Given the description of an element on the screen output the (x, y) to click on. 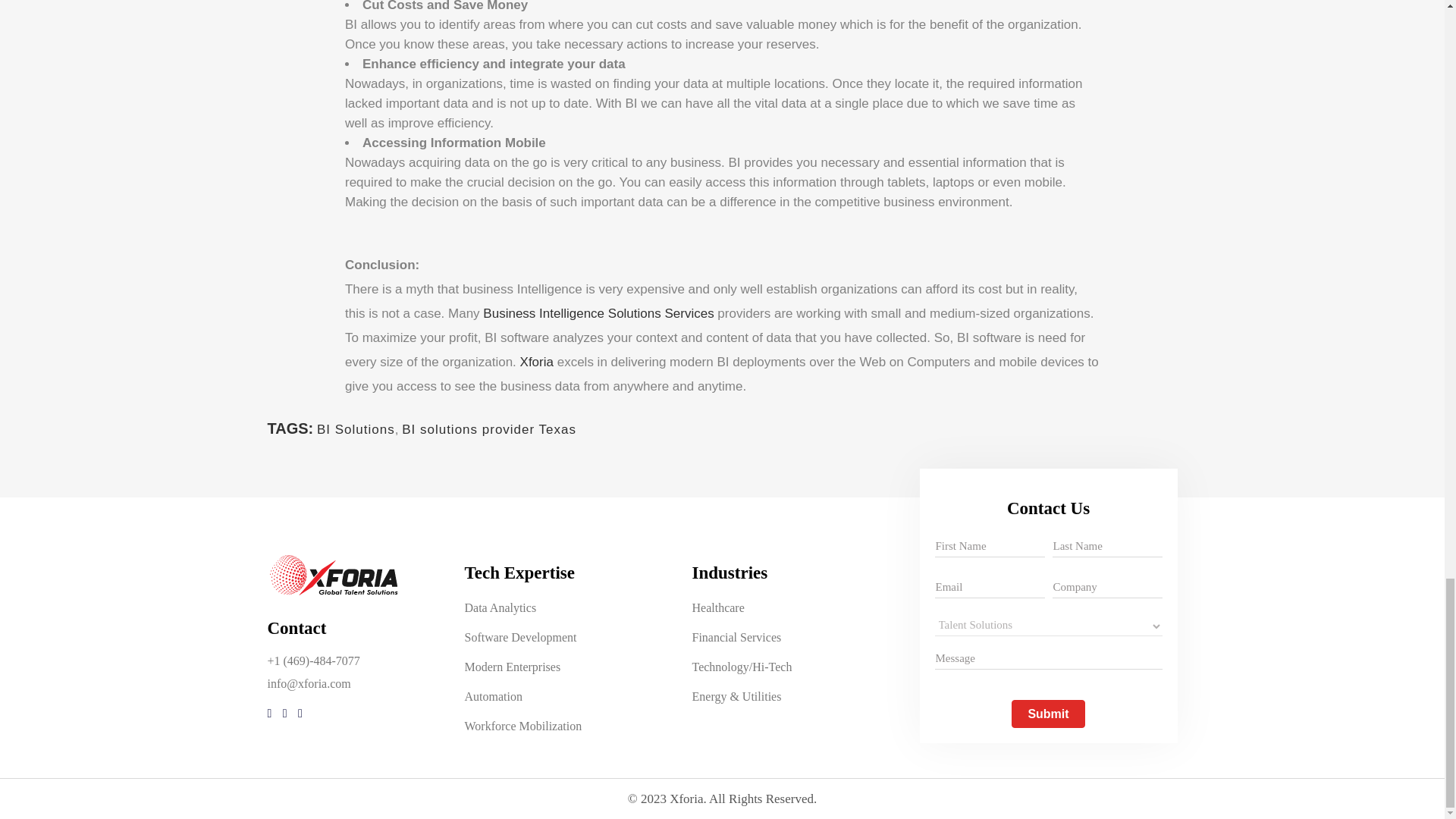
Submit (1047, 714)
